Given the description of an element on the screen output the (x, y) to click on. 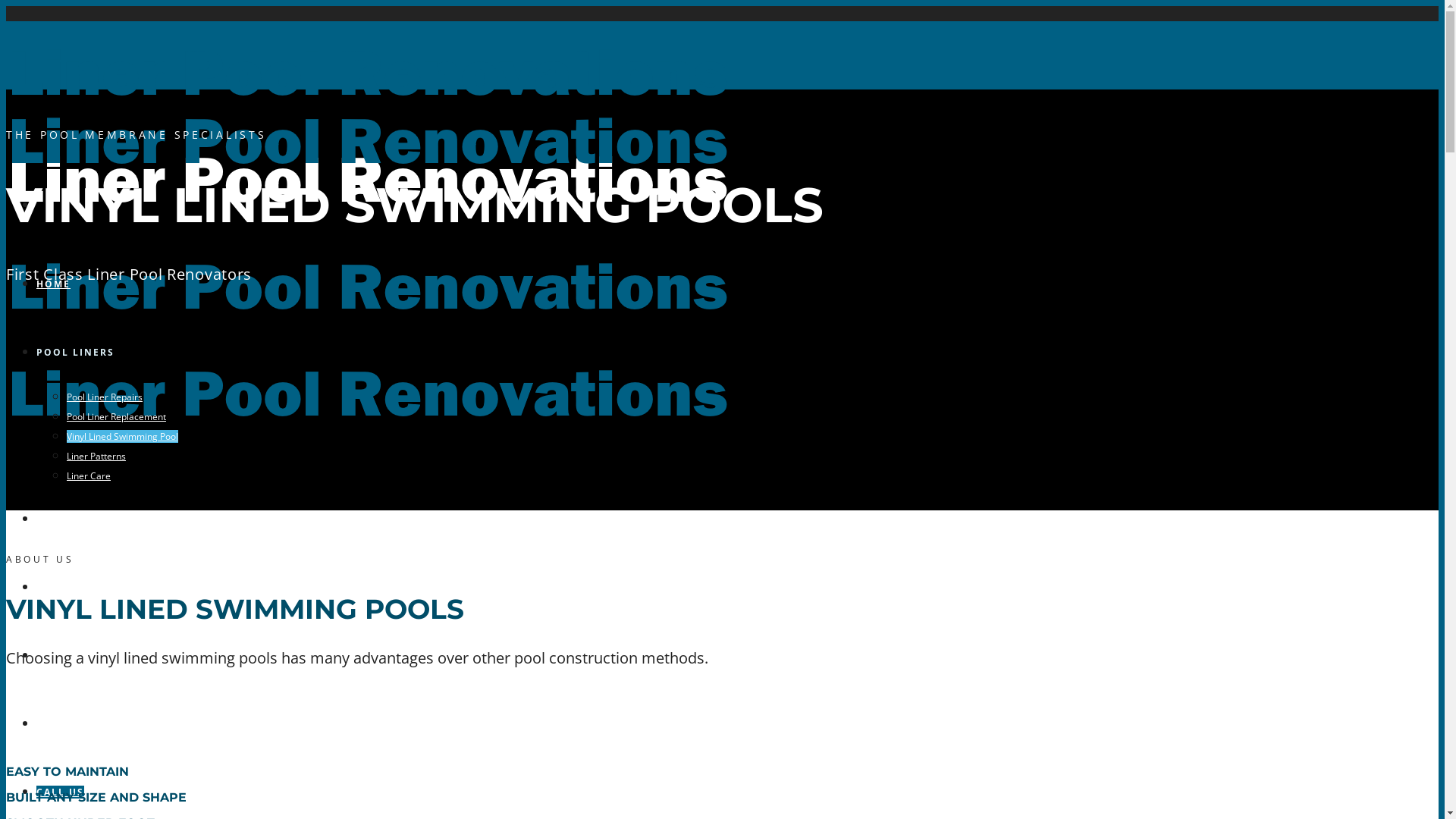
CONTACT US Element type: text (72, 723)
POOL LINERS Element type: text (75, 351)
Vinyl Lined Swimming Pool Element type: text (122, 435)
ABOUT US Element type: text (65, 655)
FAQ Element type: text (47, 586)
Liner Care Element type: text (88, 475)
Liner Patterns Element type: text (95, 455)
HOME Element type: text (53, 283)
GALLERY Element type: text (61, 518)
Pool Liner Replacement Element type: text (116, 416)
Pool Liner Repairs Element type: text (104, 396)
CALL US Element type: text (60, 791)
